Given the description of an element on the screen output the (x, y) to click on. 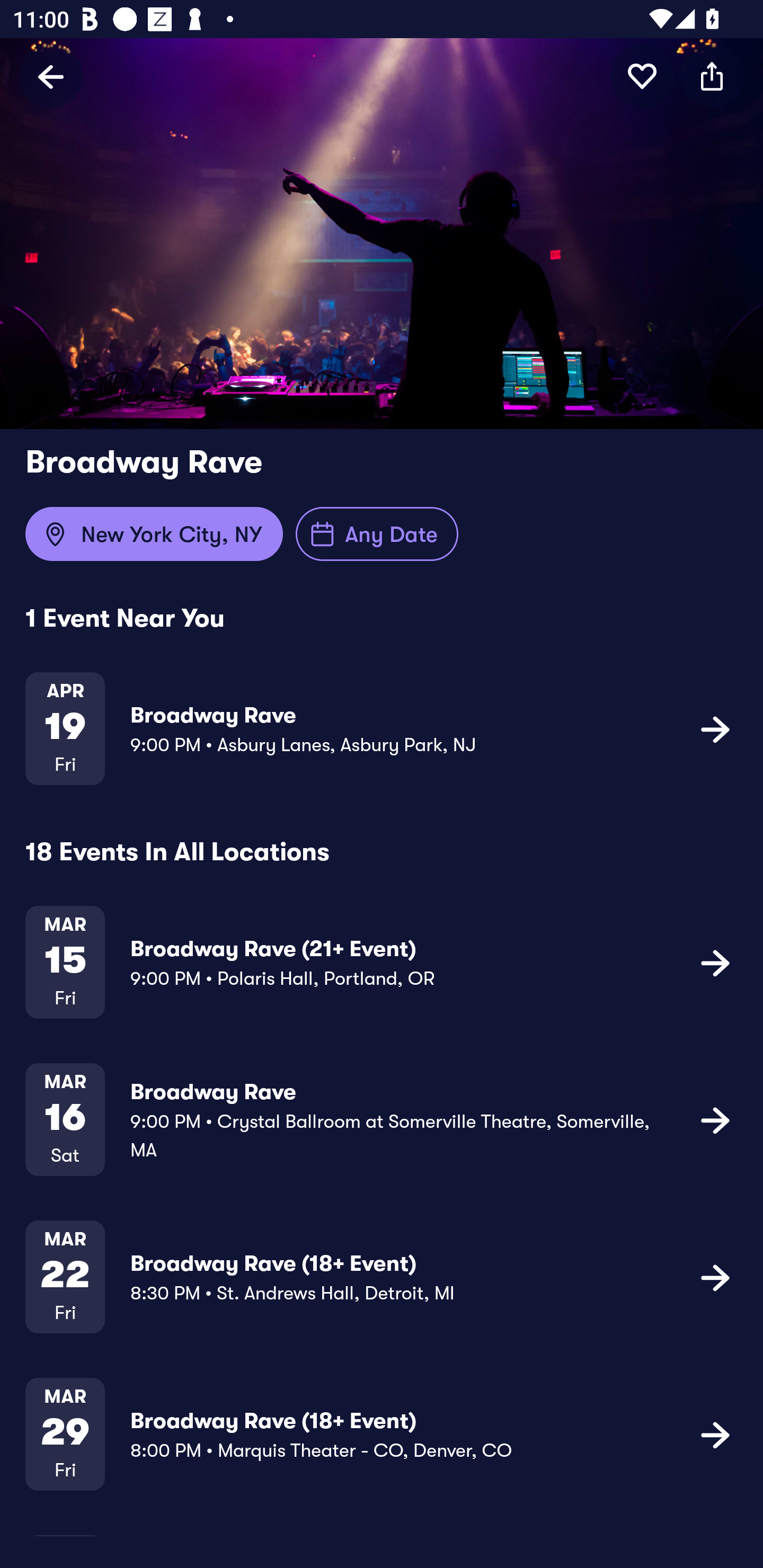
Back (50, 75)
icon button (641, 75)
icon button (711, 75)
New York City, NY (153, 533)
Any Date (377, 533)
icon button (714, 729)
icon button (714, 962)
icon button (714, 1119)
icon button (714, 1276)
icon button (714, 1434)
